Given the description of an element on the screen output the (x, y) to click on. 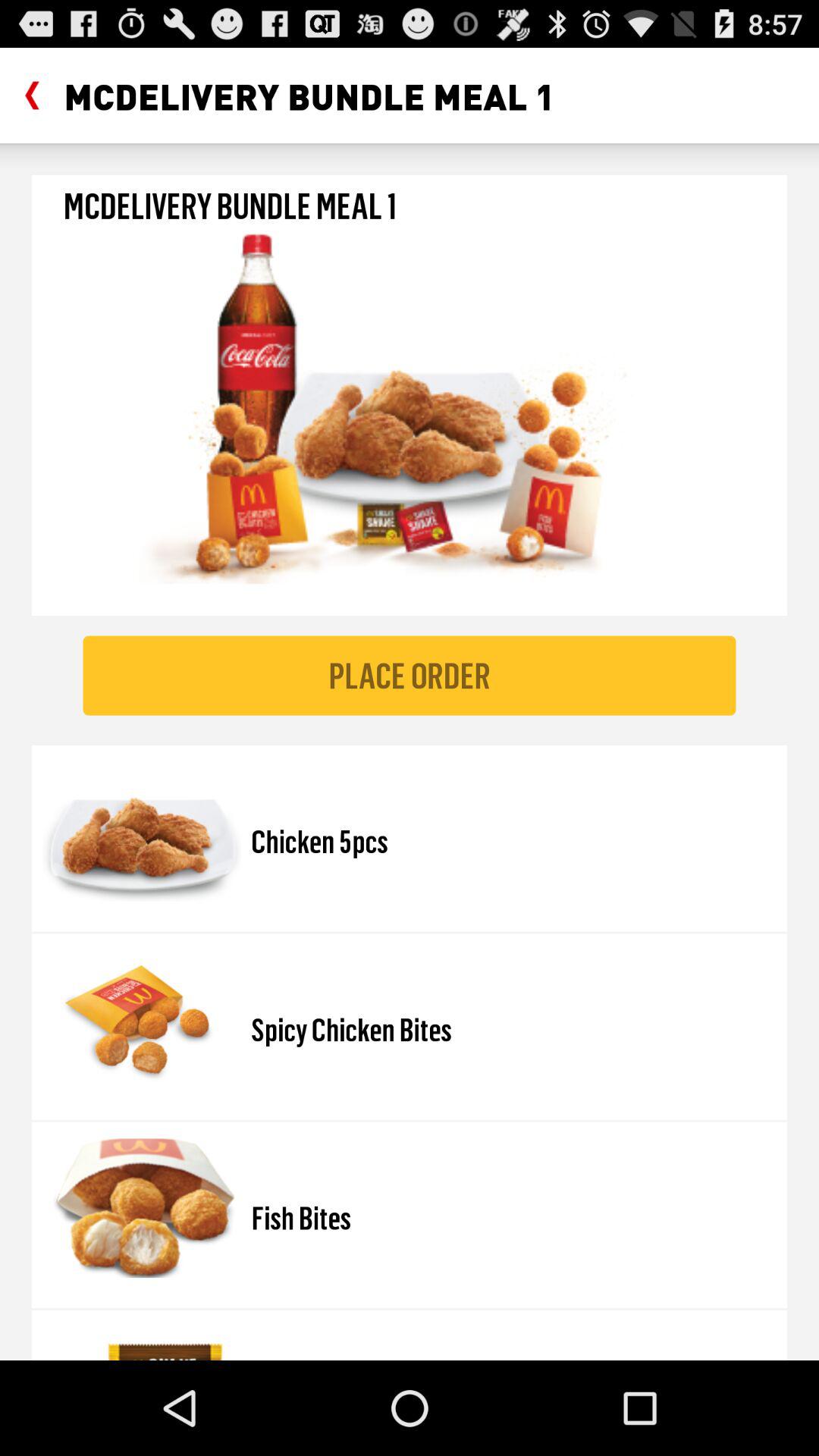
click on image which is left side of chicken 5pcs (141, 831)
click on the third image in place order from the top (141, 1208)
